Given the description of an element on the screen output the (x, y) to click on. 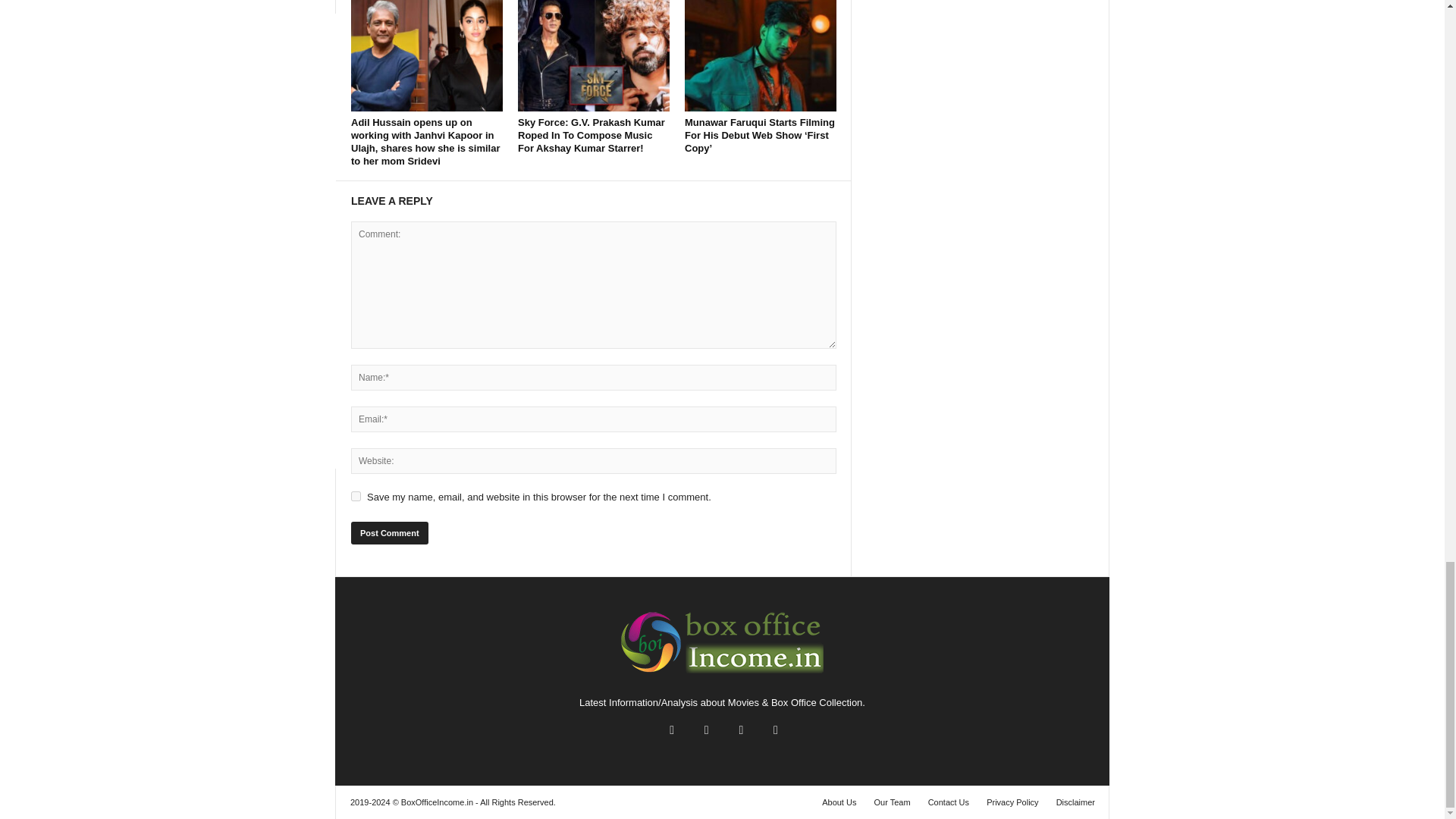
Post Comment (389, 532)
yes (355, 496)
